Given the description of an element on the screen output the (x, y) to click on. 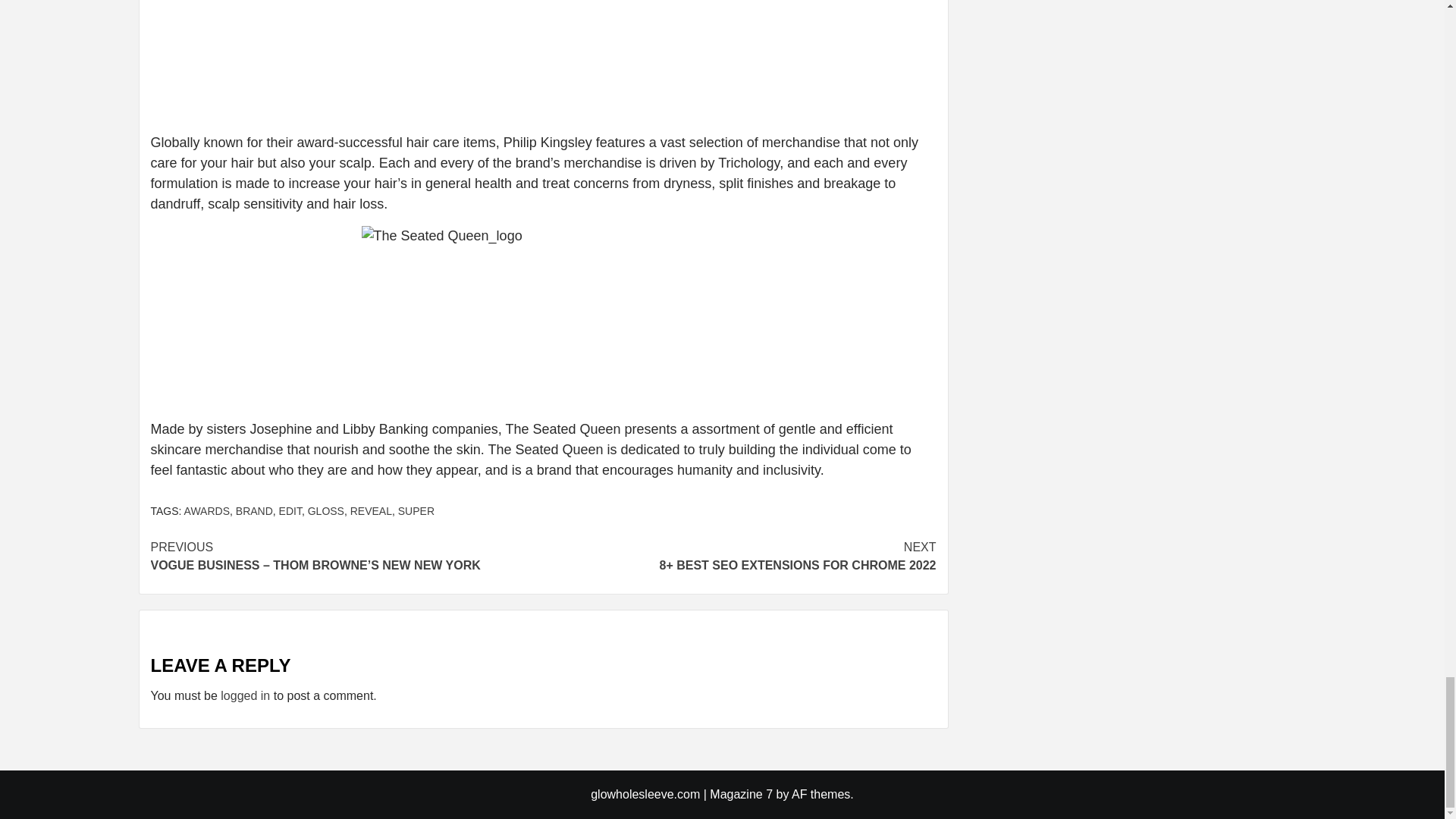
GLOSS (325, 510)
EDIT (290, 510)
SUPER (415, 510)
logged in (245, 695)
AWARDS (207, 510)
REVEAL (370, 510)
BRAND (254, 510)
